Given the description of an element on the screen output the (x, y) to click on. 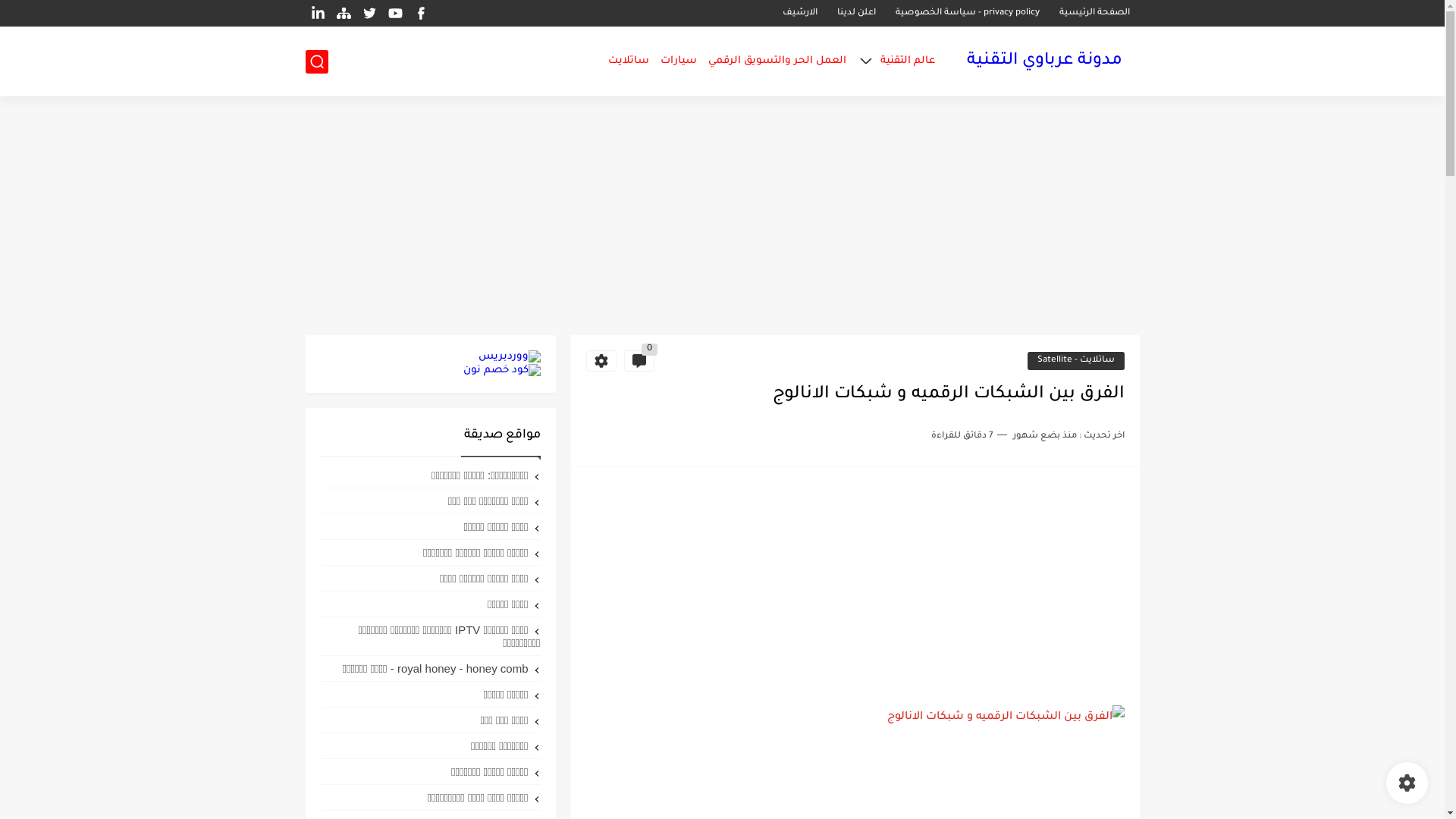
0 Element type: text (638, 360)
facebook Element type: hover (421, 13)
youtube Element type: hover (395, 13)
Advertisement Element type: hover (721, 217)
linkedin Element type: hover (318, 13)
Advertisement Element type: hover (854, 586)
  Element type: text (1004, 717)
twitter Element type: hover (369, 13)
sitemap Element type: hover (344, 13)
